Given the description of an element on the screen output the (x, y) to click on. 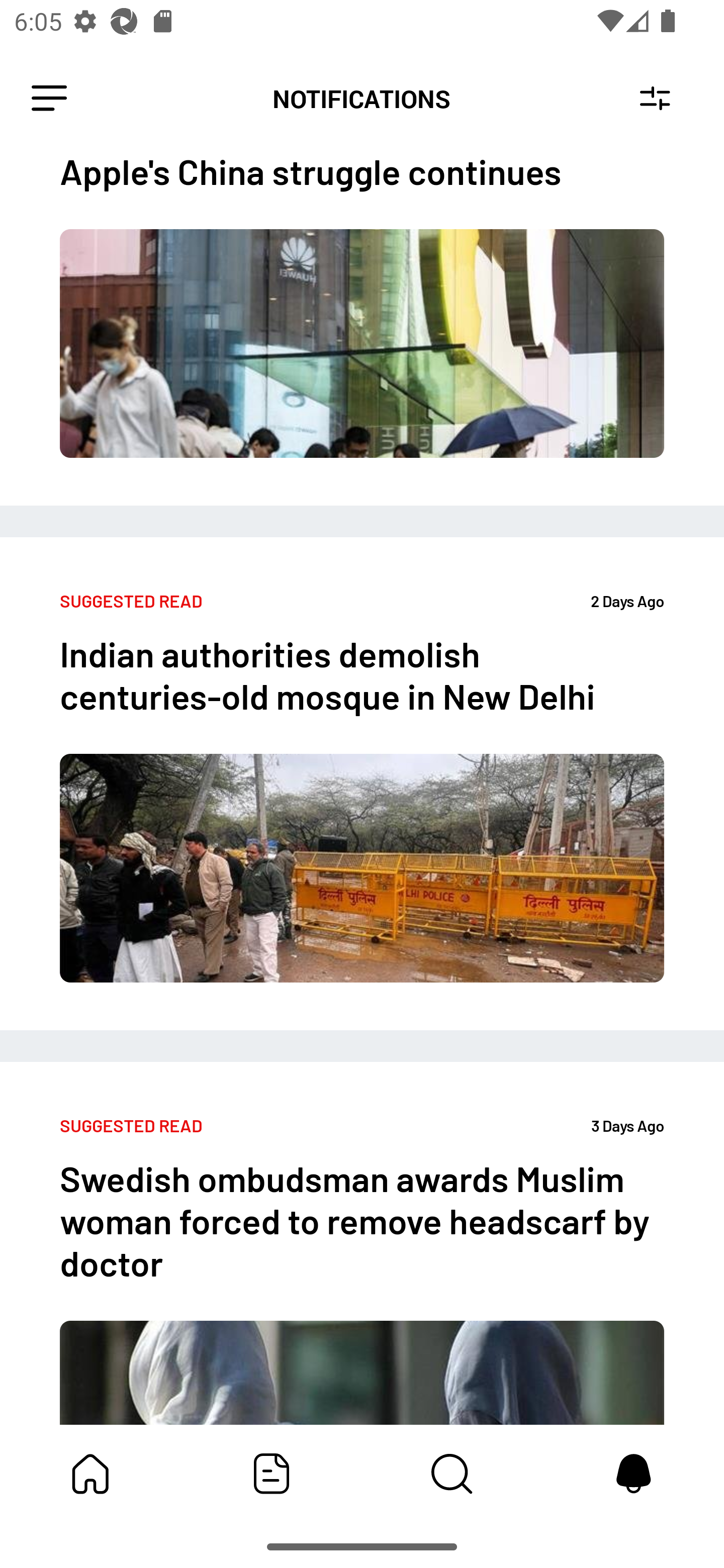
Leading Icon (49, 98)
Notification Settings (655, 98)
Apple's China struggle continues Image of the New (362, 329)
My Bundle (90, 1473)
Featured (271, 1473)
Content Store (452, 1473)
